Given the description of an element on the screen output the (x, y) to click on. 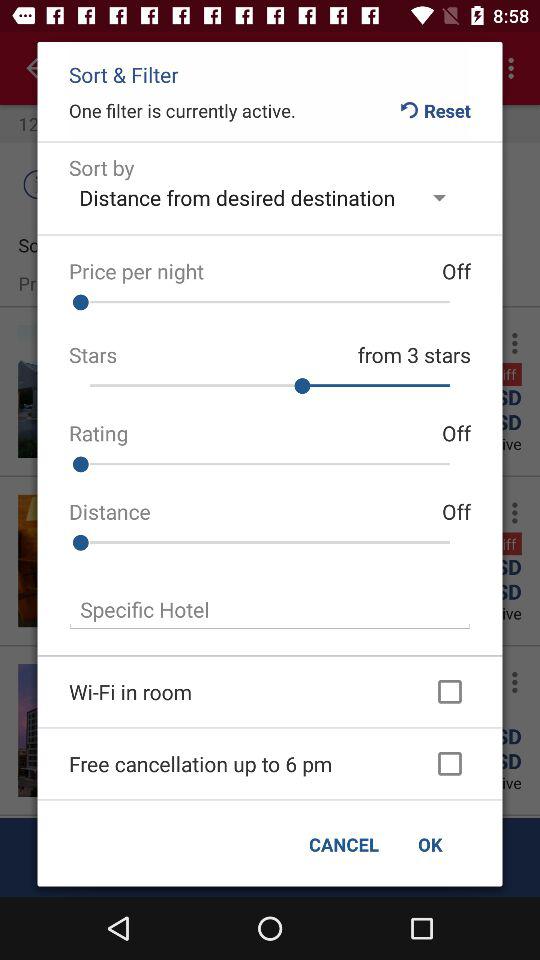
field to specify hotel (270, 609)
